Given the description of an element on the screen output the (x, y) to click on. 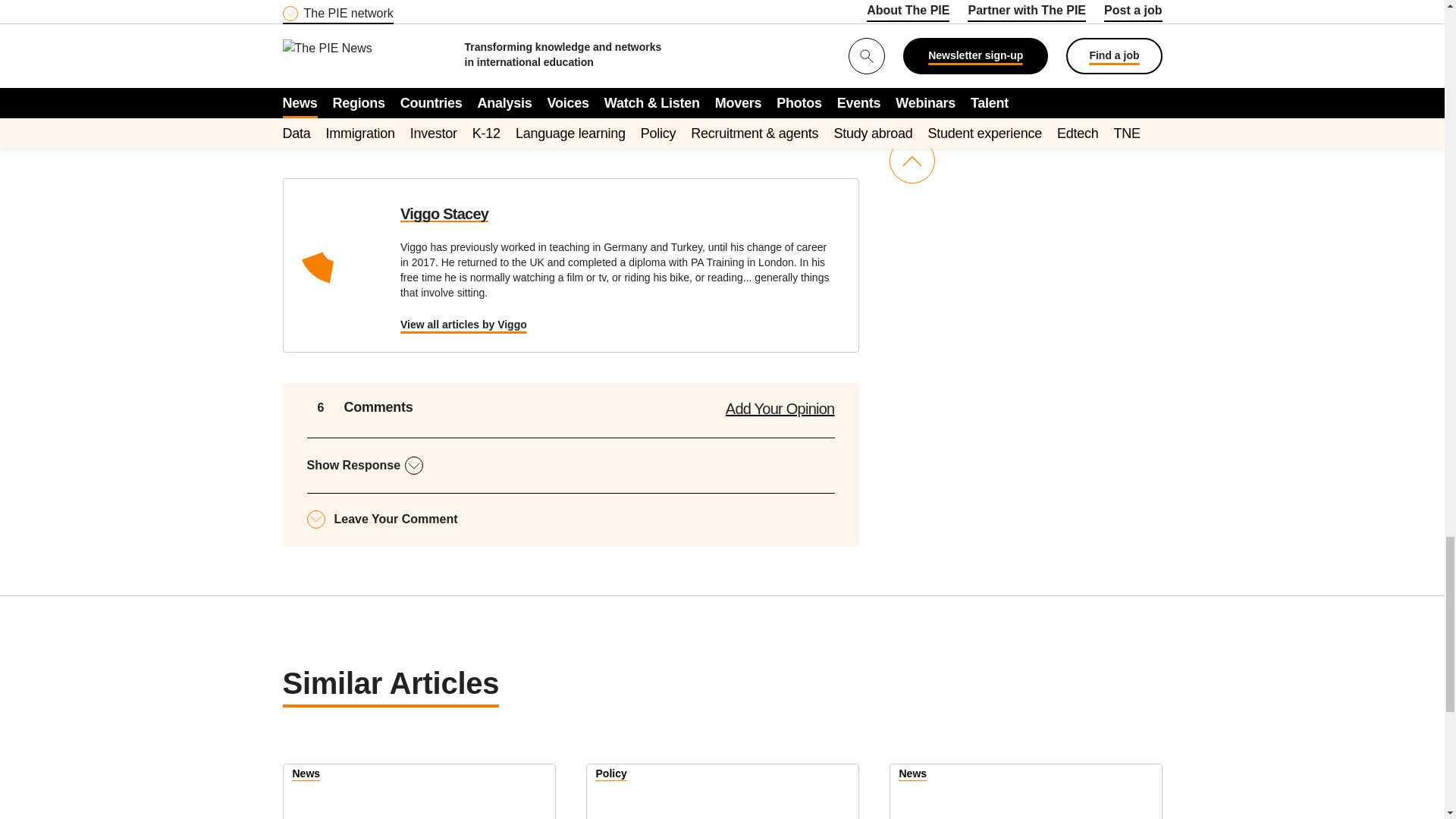
View all News articles (306, 775)
View all Policy articles (611, 775)
View all News articles (912, 775)
US State Department seeks to cut student visa bureaucracy (722, 791)
